Given the description of an element on the screen output the (x, y) to click on. 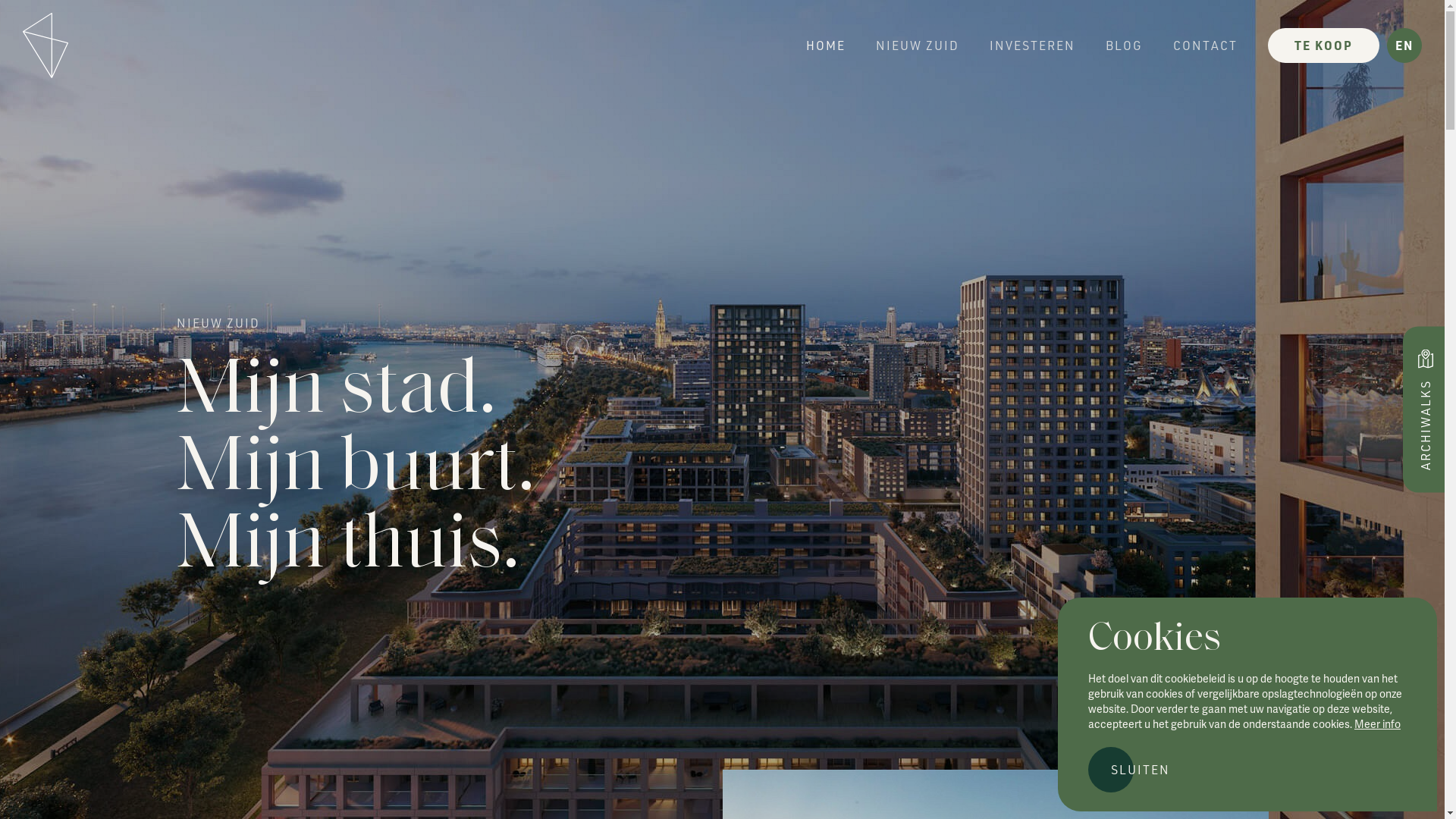
HOME Element type: text (825, 45)
NIEUW ZUID Element type: text (917, 45)
TE KOOP Element type: text (1323, 45)
ARCHIWALKS Element type: text (1425, 409)
CONTACT Element type: text (1205, 45)
INVESTEREN Element type: text (1032, 45)
SLUITEN Element type: text (1148, 769)
EN Element type: text (1403, 45)
BLOG Element type: text (1123, 45)
Meer info Element type: text (1377, 724)
